Given the description of an element on the screen output the (x, y) to click on. 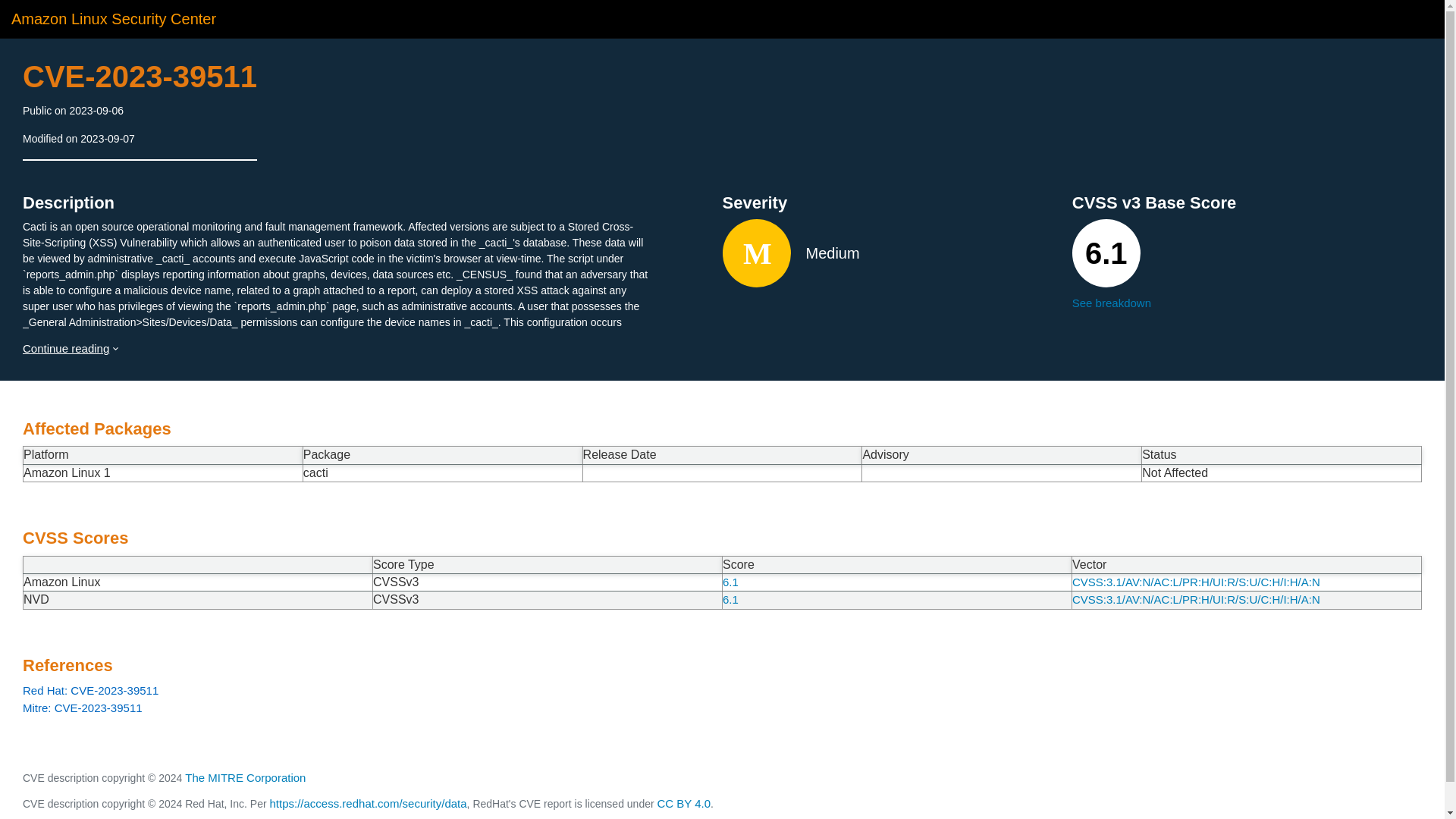
Amazon Linux Security Center (113, 18)
6.1 (730, 581)
CC BY 4.0 (684, 802)
Red Hat: CVE-2023-39511 (722, 690)
Mitre: CVE-2023-39511 (722, 708)
6.1 (730, 599)
The MITRE Corporation (244, 777)
See breakdown (1246, 303)
